Given the description of an element on the screen output the (x, y) to click on. 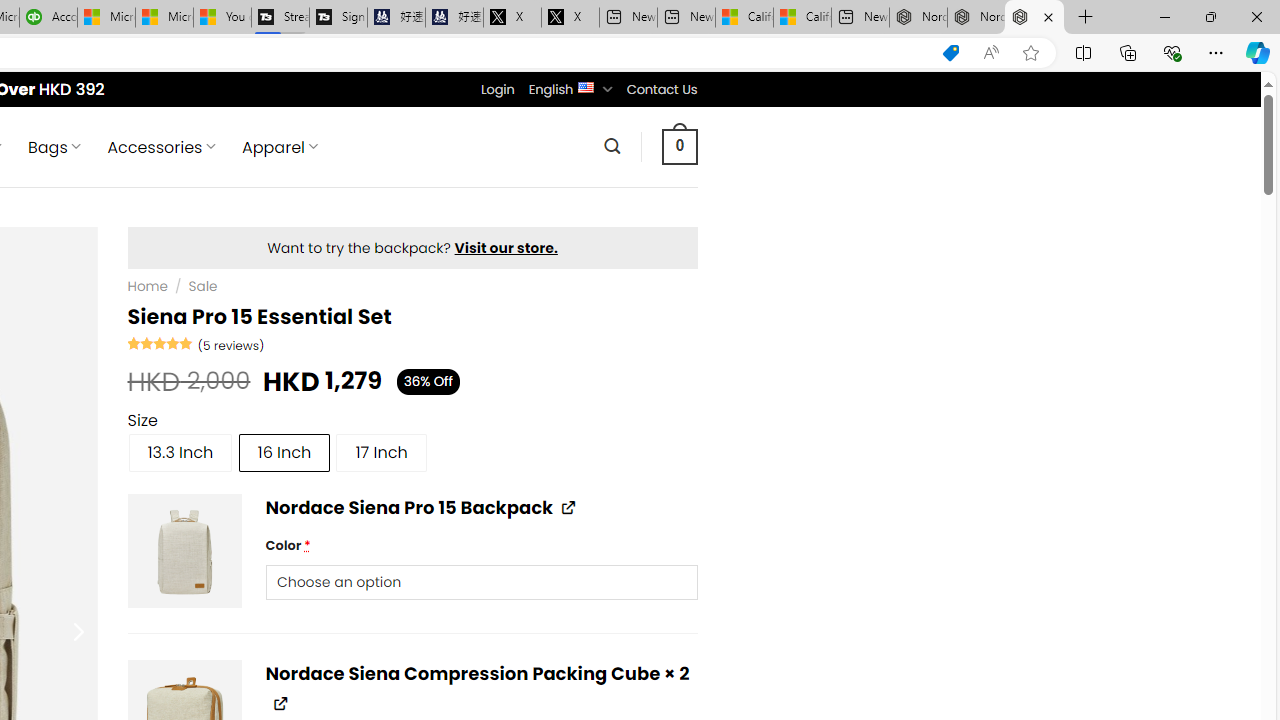
Nordace Siena Pro 15 Backpack (976, 17)
 0  (679, 146)
Color * (480, 581)
Nordace - Siena Pro 15 Essential Set (1034, 17)
Login (497, 89)
17 Inch (381, 452)
ND1118-5-1 (183, 550)
